Given the description of an element on the screen output the (x, y) to click on. 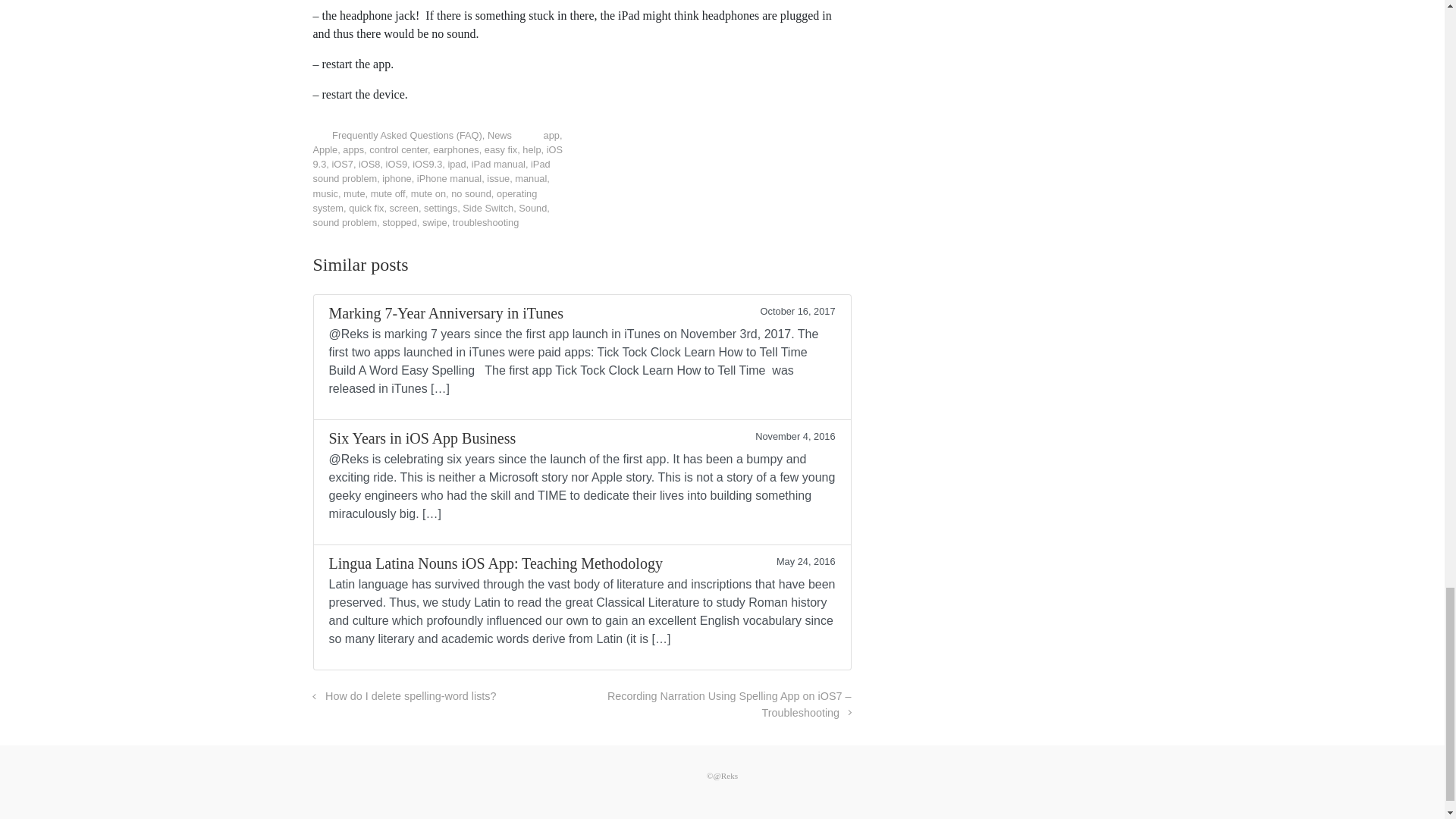
app (551, 134)
Permanent Link to Six Years in iOS App Business (581, 482)
News (499, 134)
control center (398, 149)
earphones (455, 149)
apps (353, 149)
Permanent Link to Marking 7-Year Anniversary in iTunes (581, 357)
Apple (325, 149)
